Given the description of an element on the screen output the (x, y) to click on. 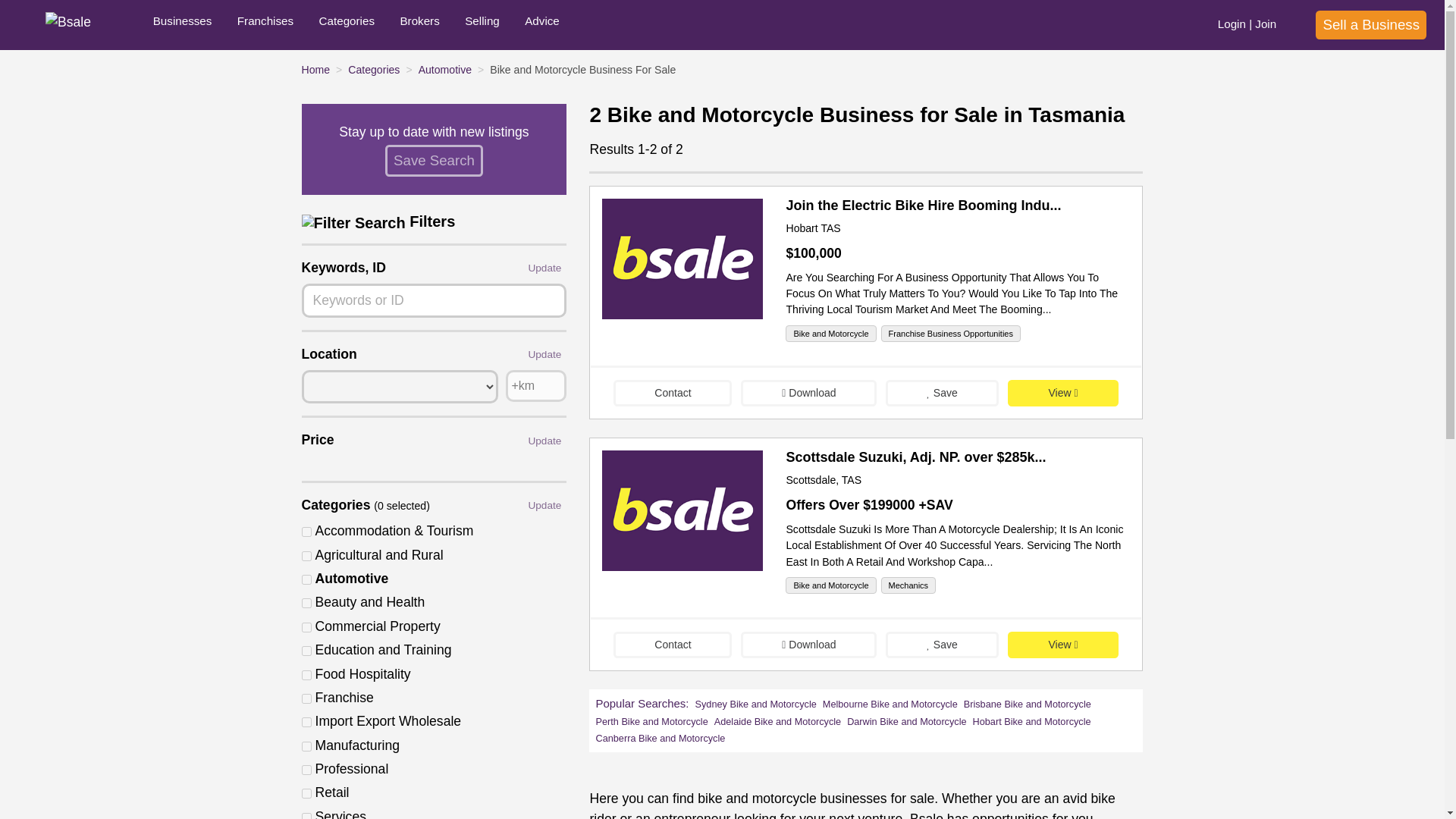
32 (306, 627)
3 (306, 603)
14 (306, 816)
12 (306, 793)
Businesses (181, 24)
1 (306, 532)
4 (306, 651)
6 (306, 698)
2 (306, 579)
5 (306, 675)
11 (306, 769)
8 (306, 722)
13 (306, 556)
9 (306, 746)
Location (400, 386)
